Given the description of an element on the screen output the (x, y) to click on. 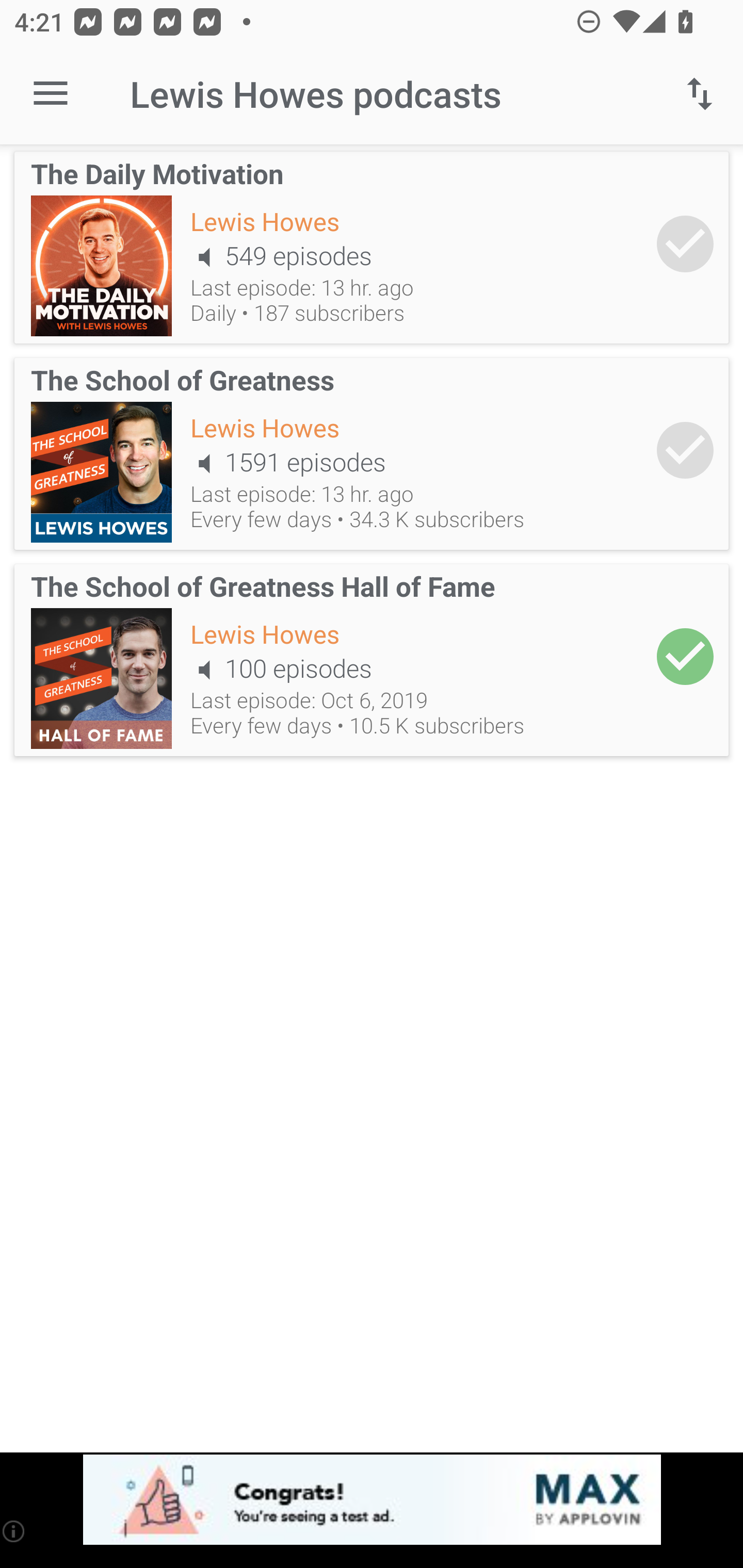
Open navigation sidebar (50, 93)
Sort (699, 93)
Add (684, 243)
Add (684, 450)
Add (684, 656)
app-monetization (371, 1500)
(i) (14, 1531)
